Given the description of an element on the screen output the (x, y) to click on. 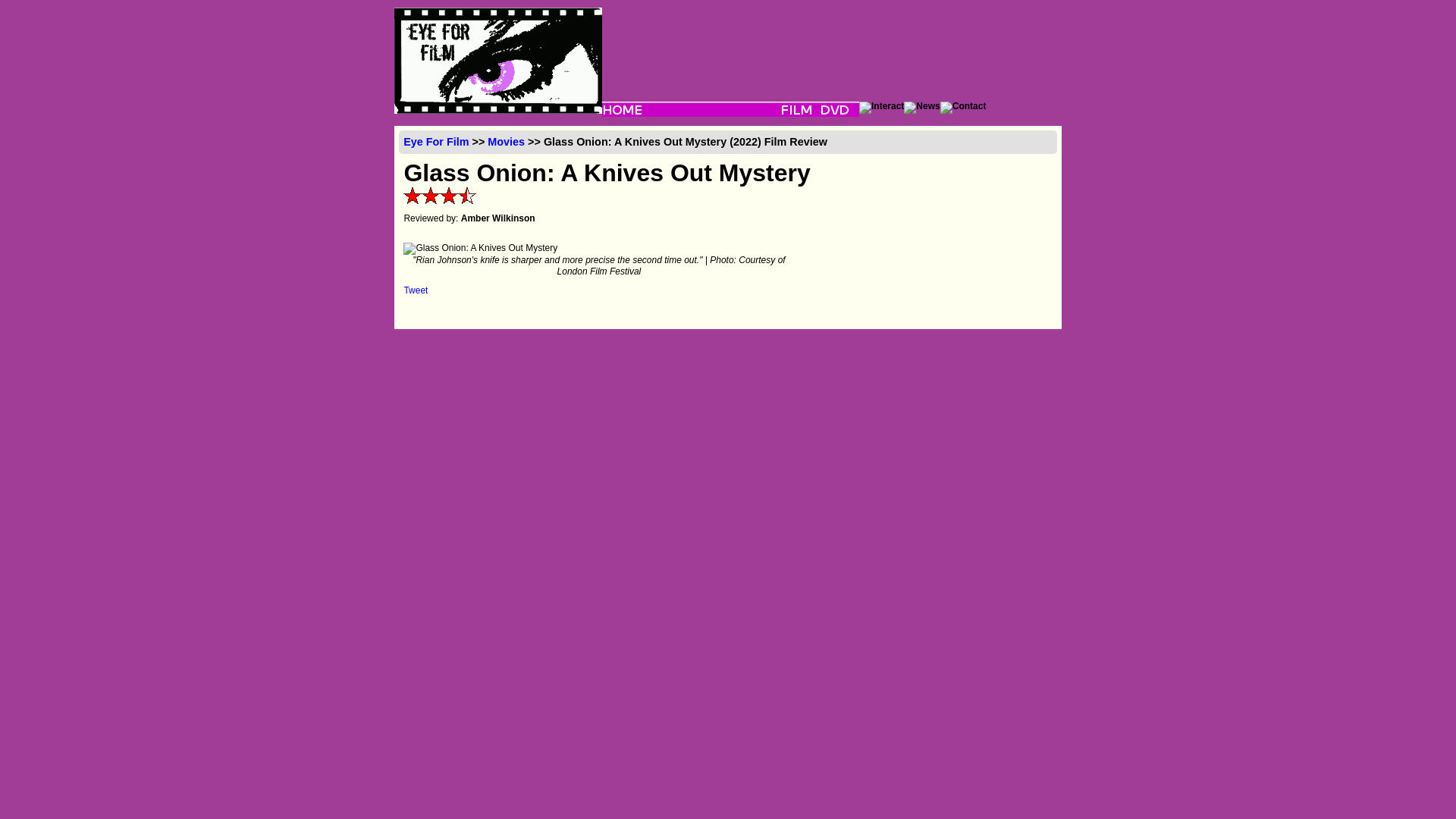
Movies (505, 141)
Tweet (415, 290)
Eye For Film (435, 141)
Amber Wilkinson (498, 217)
